Given the description of an element on the screen output the (x, y) to click on. 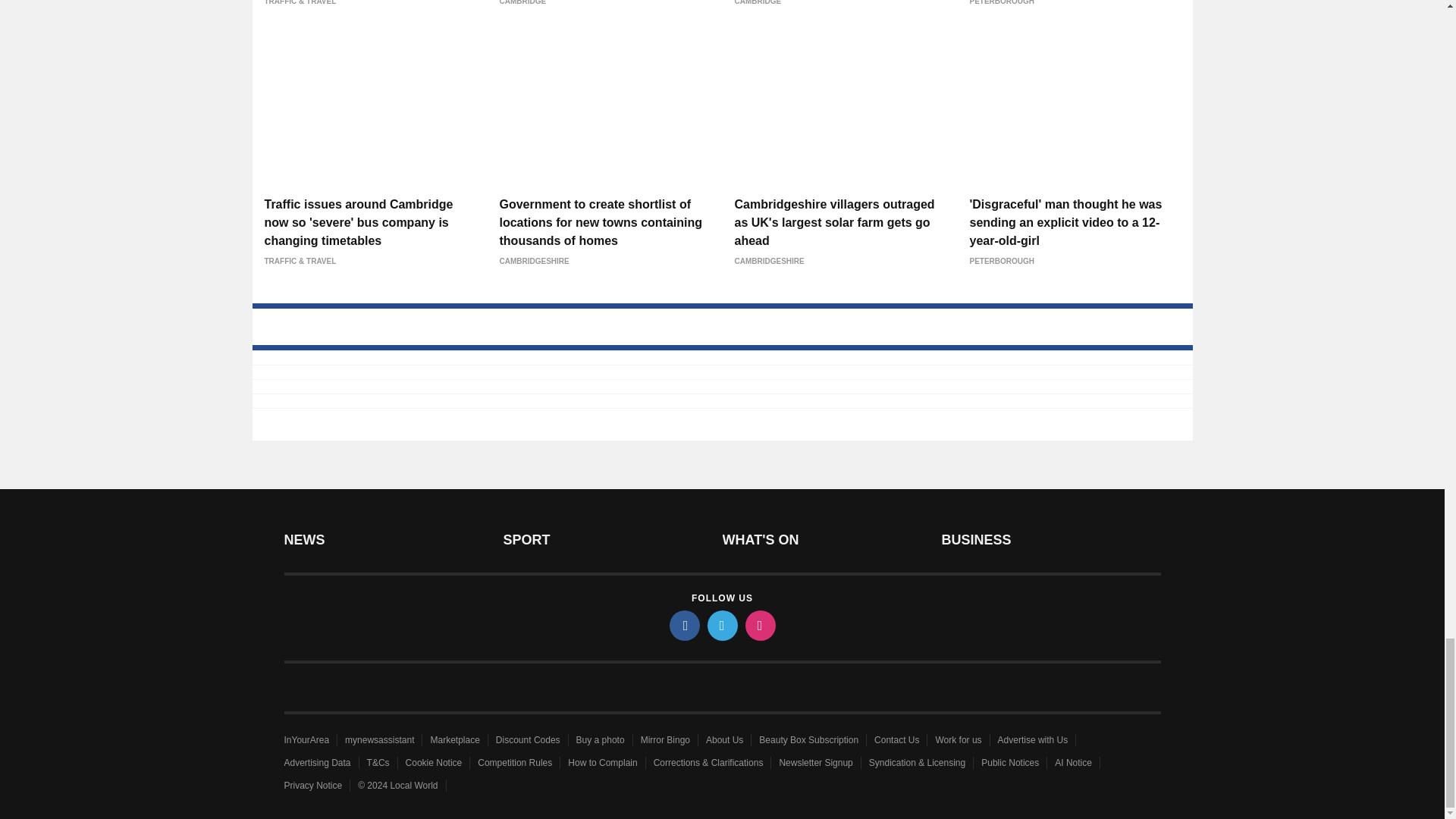
facebook (683, 625)
instagram (759, 625)
twitter (721, 625)
